Given the description of an element on the screen output the (x, y) to click on. 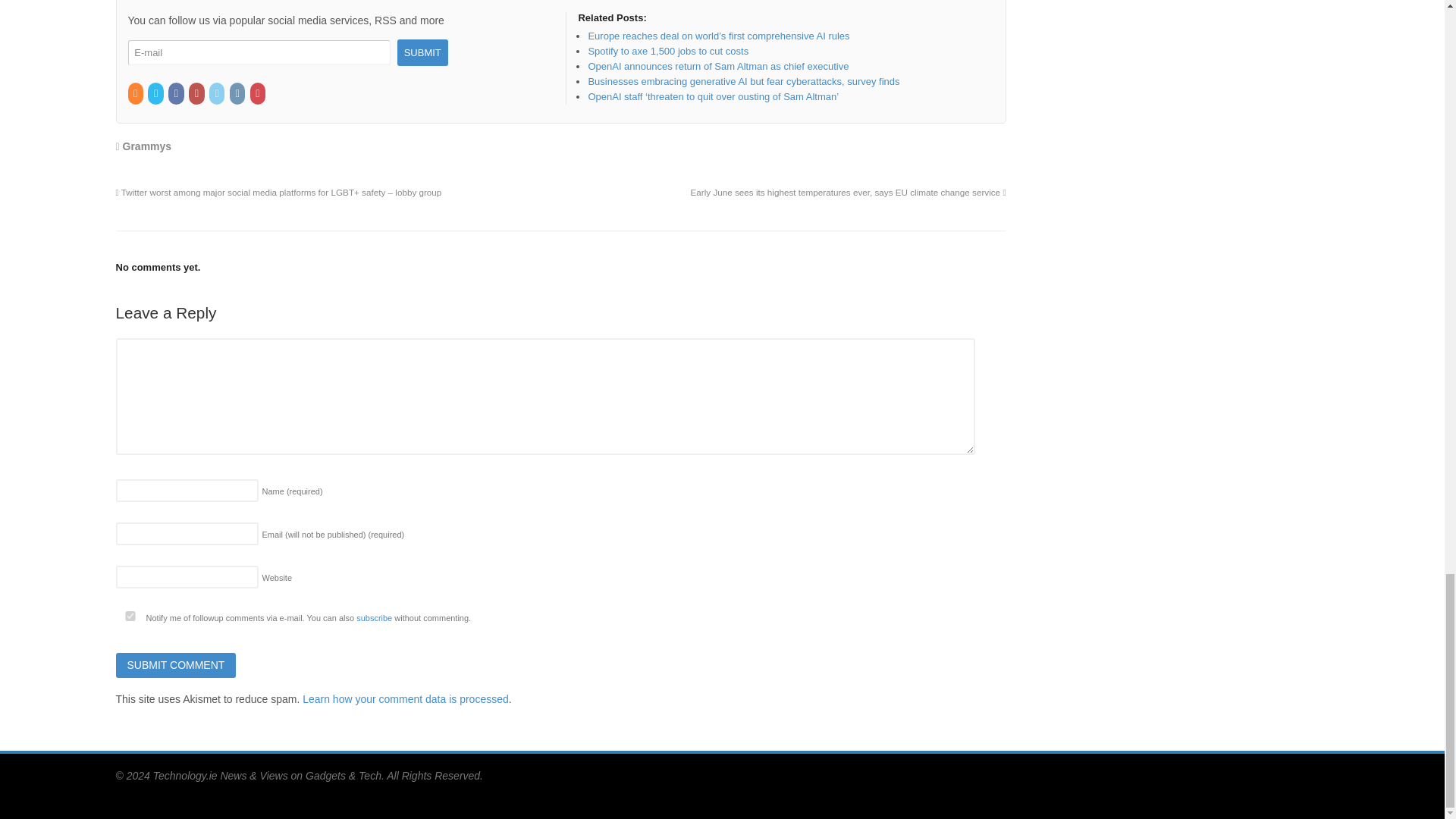
E-mail (259, 52)
Submit Comment (175, 665)
yes (129, 615)
LinkedIn (218, 93)
subscribe (373, 617)
RSS (136, 93)
Grammys (146, 146)
Submit (422, 52)
Twitter (156, 93)
Submit (422, 52)
YouTube (197, 93)
Spotify to axe 1,500 jobs to cut costs (668, 50)
OpenAI announces return of Sam Altman as chief executive (718, 66)
